Given the description of an element on the screen output the (x, y) to click on. 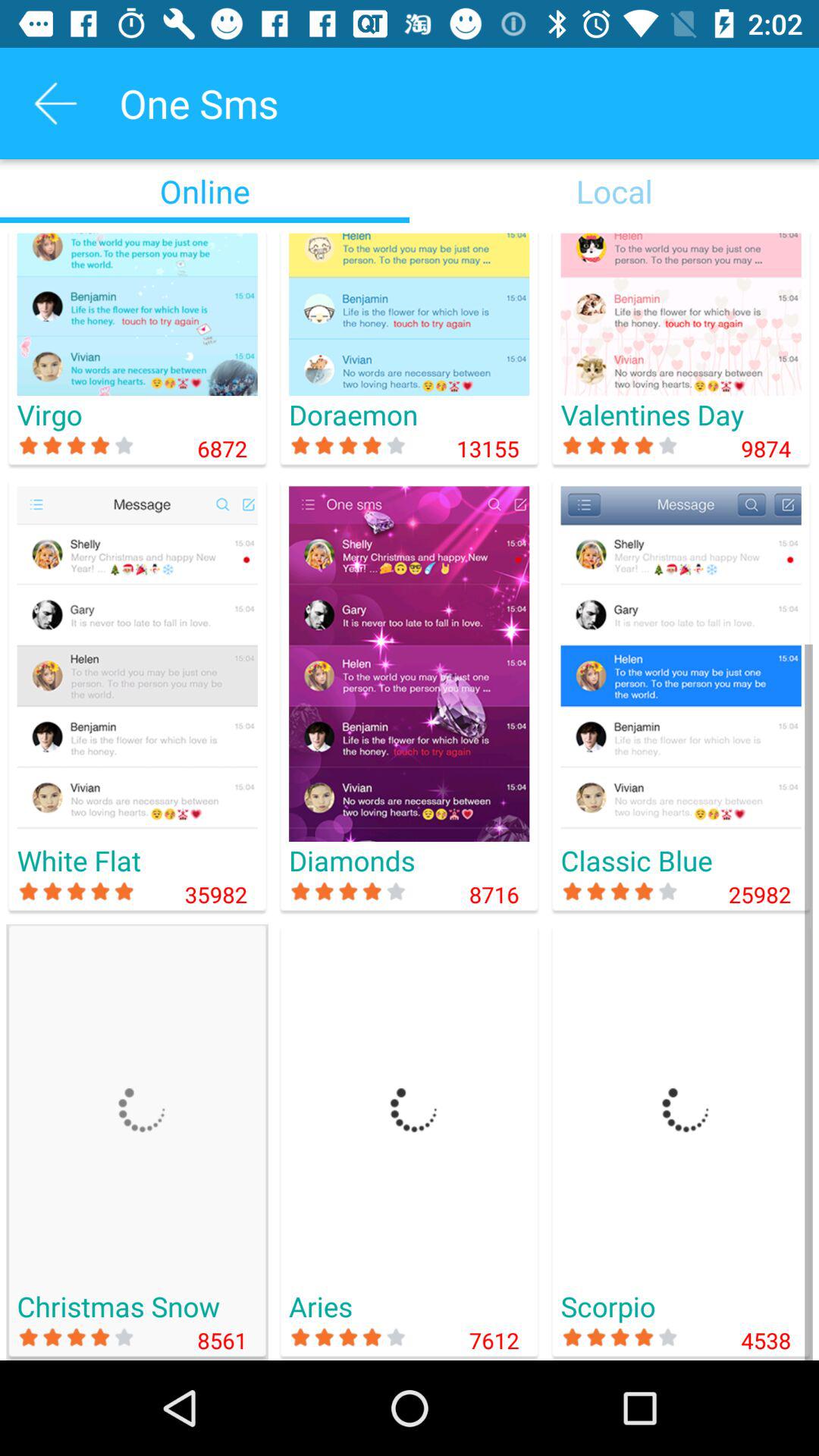
turn on icon next to the one sms icon (55, 103)
